Given the description of an element on the screen output the (x, y) to click on. 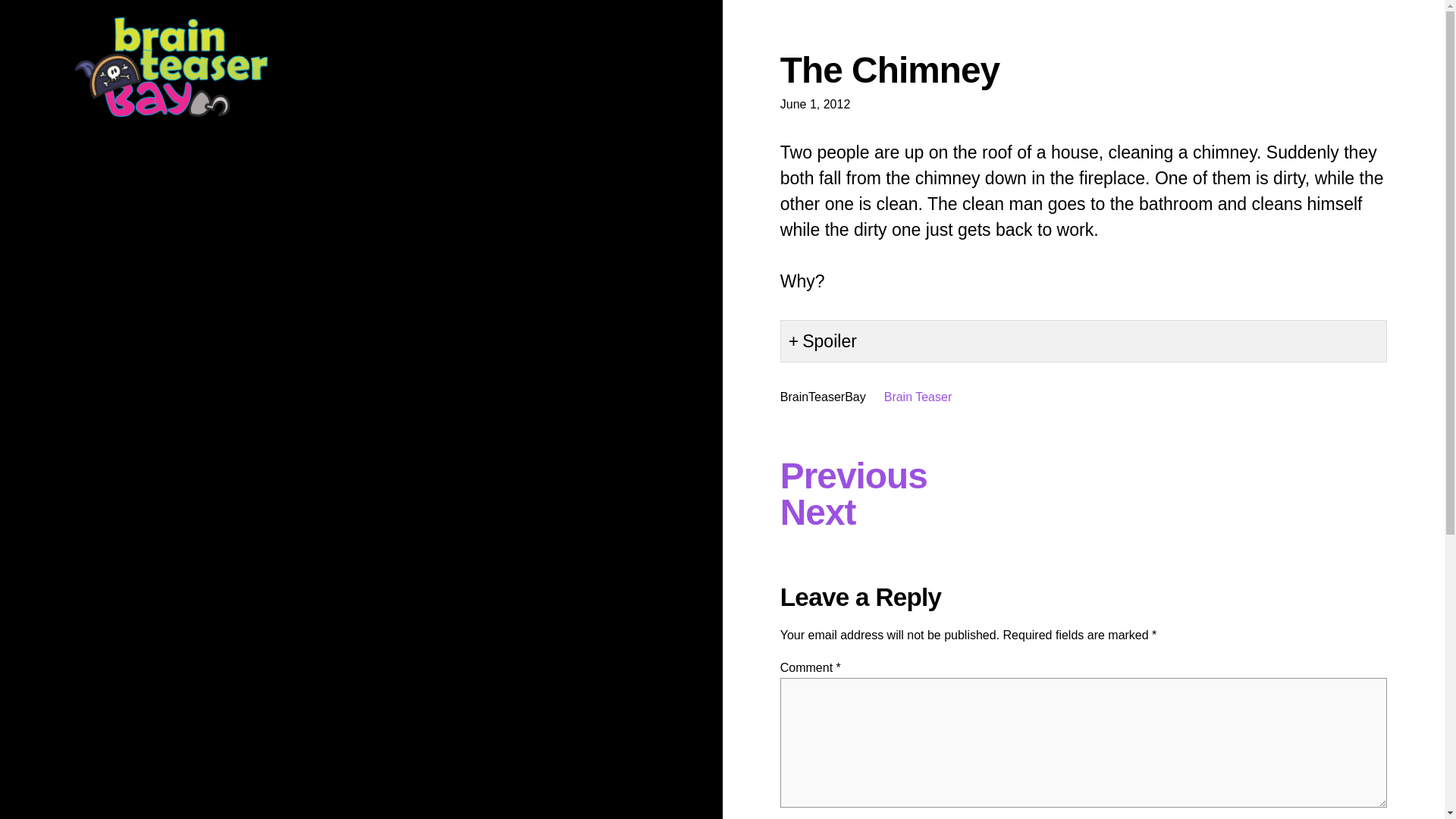
Next (818, 512)
Brain Teaser (917, 396)
Previous (853, 475)
